Given the description of an element on the screen output the (x, y) to click on. 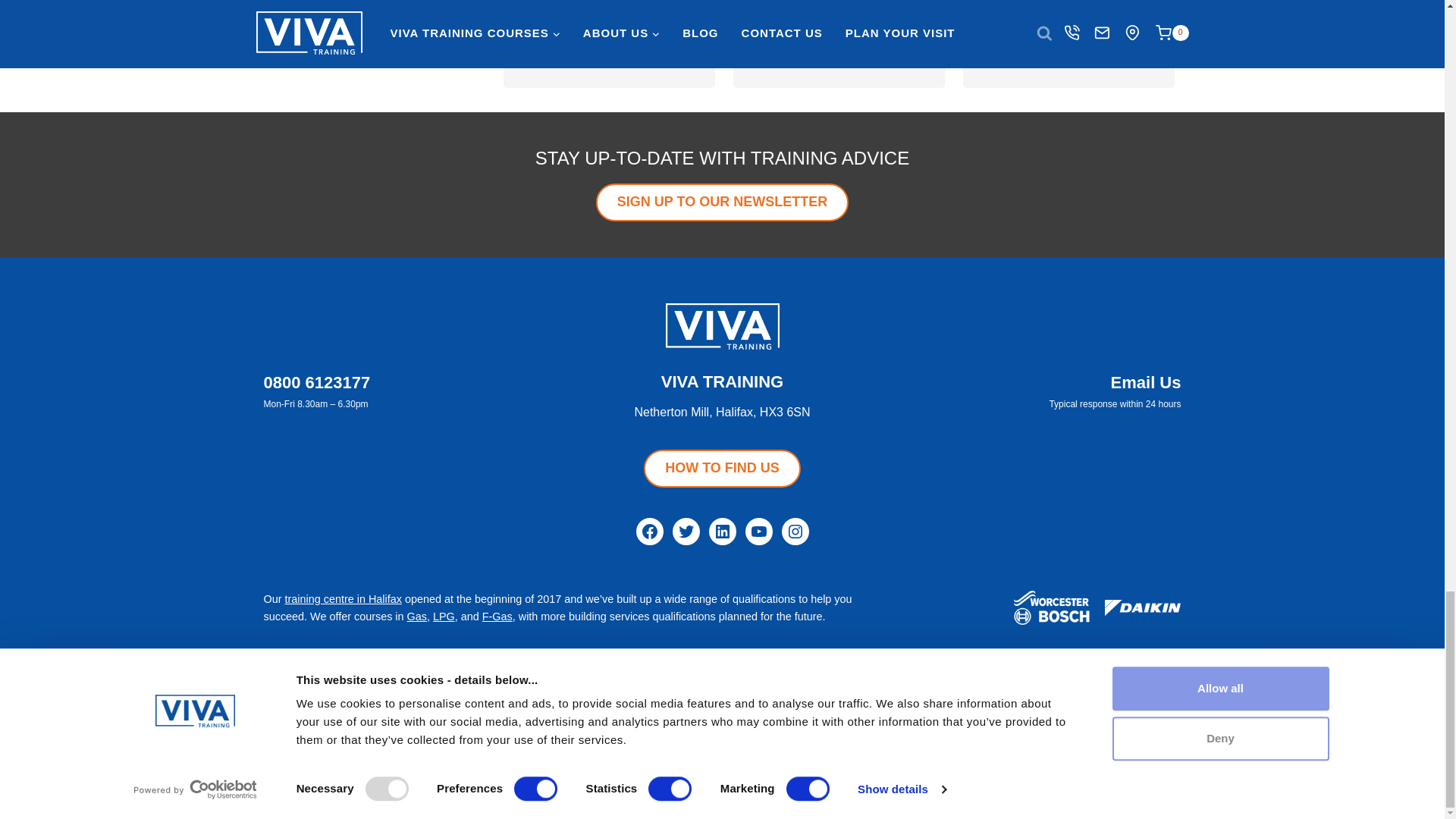
Great training great experience would recommend (609, 39)
Great fast pace training, would recommend (1069, 39)
